Given the description of an element on the screen output the (x, y) to click on. 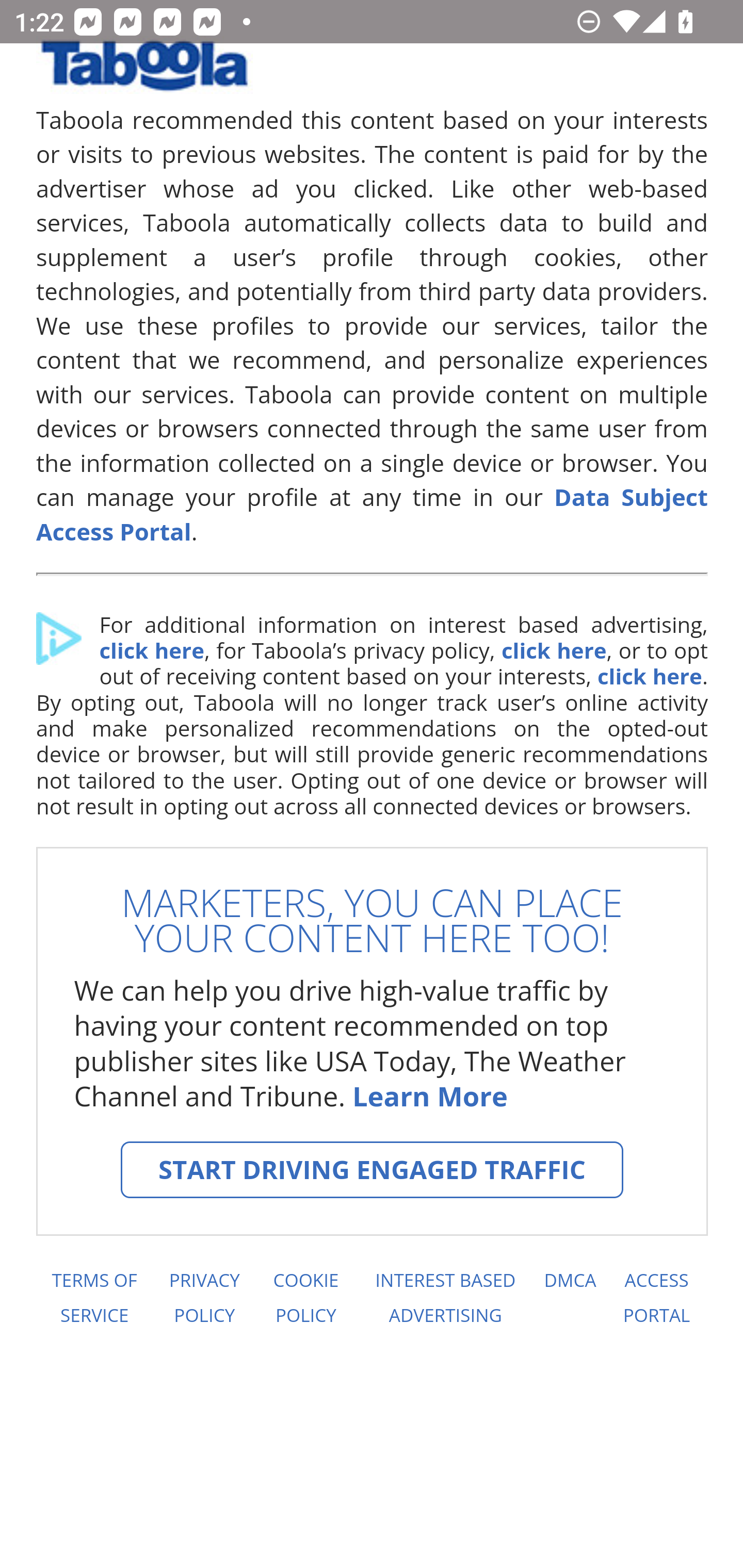
Taboola (144, 73)
Data Subject Access Portal (372, 513)
click here (151, 650)
click here (553, 650)
click here (648, 676)
Learn More (429, 1095)
START DRIVING ENGAGED TRAFFIC (371, 1169)
TERMS OF SERVICE (93, 1298)
PRIVACY POLICY (203, 1298)
COOKIE POLICY (305, 1298)
INTEREST BASED ADVERTISING (445, 1298)
DMCA (570, 1298)
ACCESS PORTAL (656, 1298)
